Given the description of an element on the screen output the (x, y) to click on. 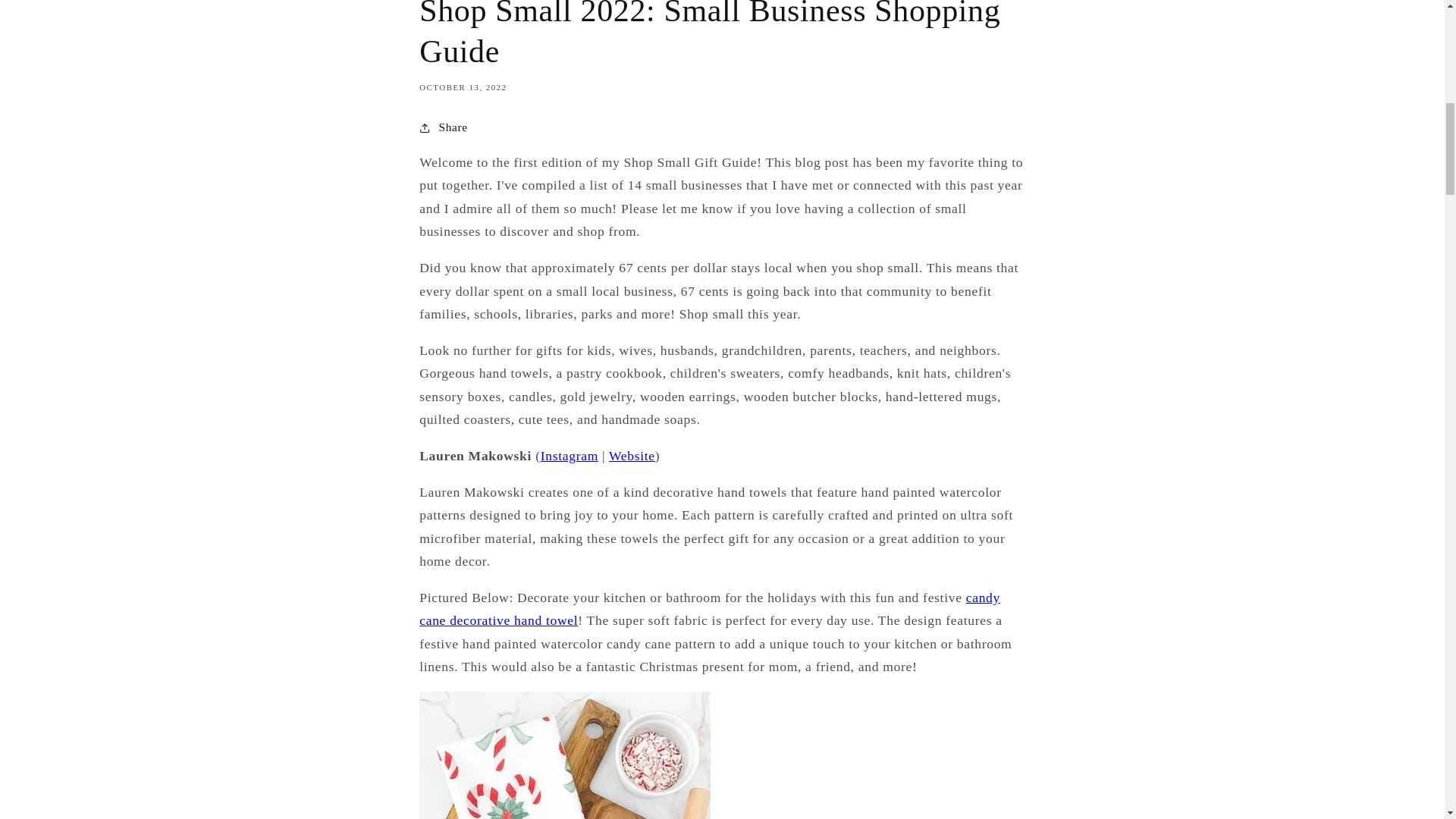
lauren makowski website link (631, 455)
lauren makowski instagram link (569, 455)
candy cane decorative hand towel (709, 608)
